Given the description of an element on the screen output the (x, y) to click on. 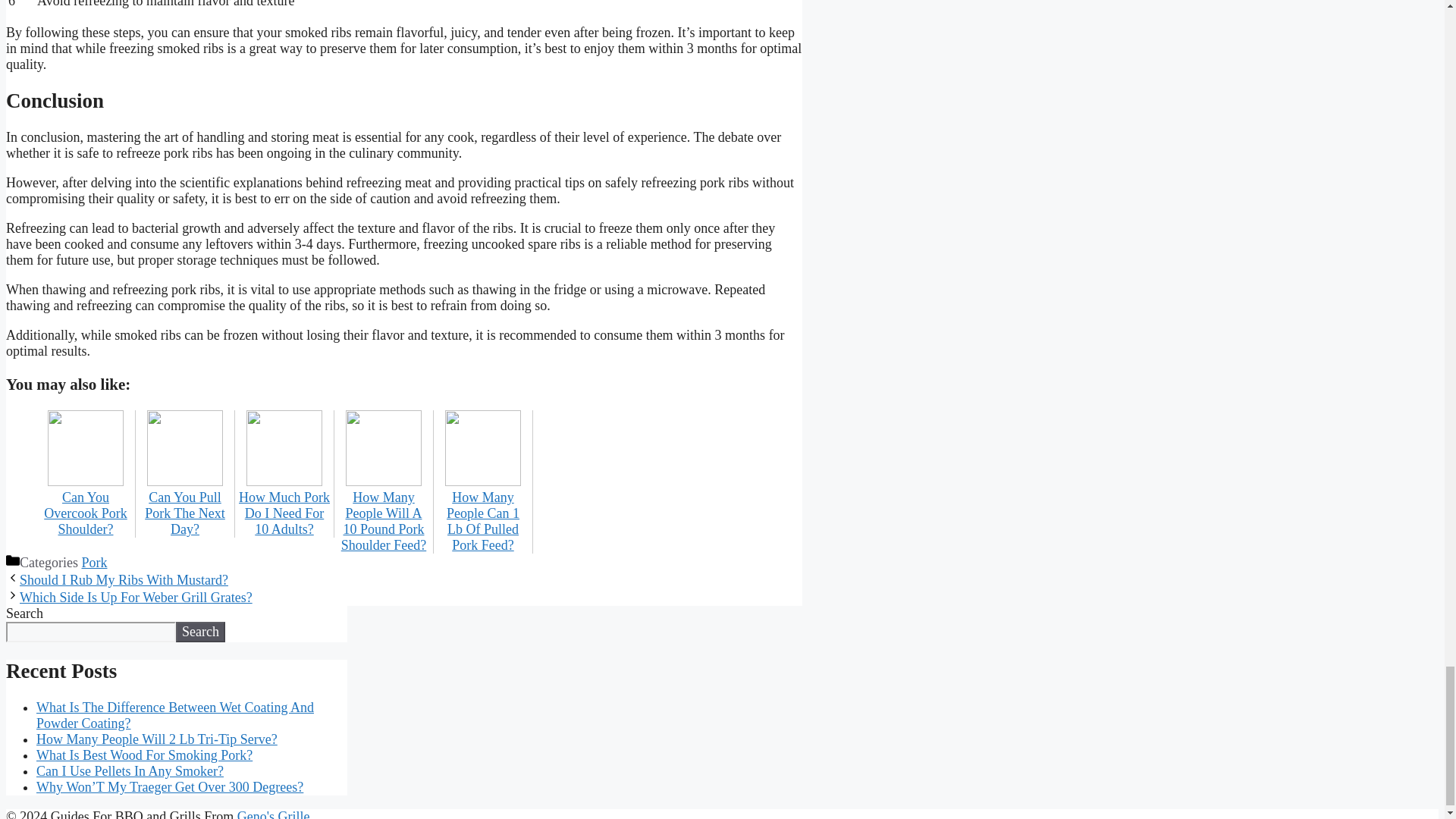
Which Side Is Up For Weber Grill Grates? (135, 597)
How Much Pork Do I Need For 10 Adults? (284, 505)
How Many People Will A 10 Pound Pork Shoulder Feed? (383, 513)
Should I Rub My Ribs With Mustard? (124, 580)
Search (200, 631)
Can You Overcook Pork Shoulder? (84, 505)
Pork (93, 562)
How Many People Can 1 Lb Of Pulled Pork Feed? (483, 513)
Can You Pull Pork The Next Day? (184, 505)
